Given the description of an element on the screen output the (x, y) to click on. 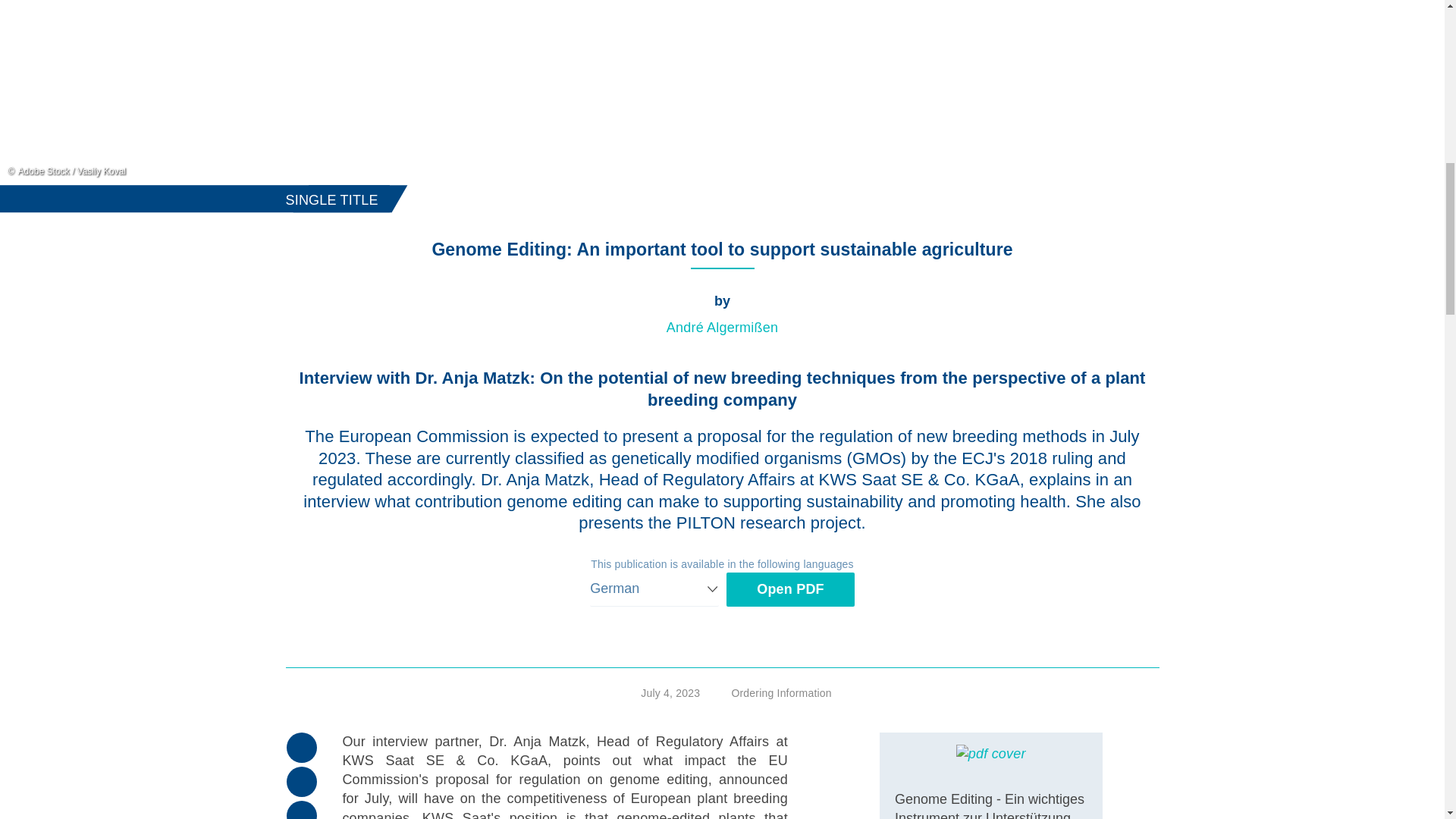
Send via mail (301, 781)
Share (301, 809)
Print (301, 747)
Ordering Information (770, 693)
pdf cover (991, 753)
